Given the description of an element on the screen output the (x, y) to click on. 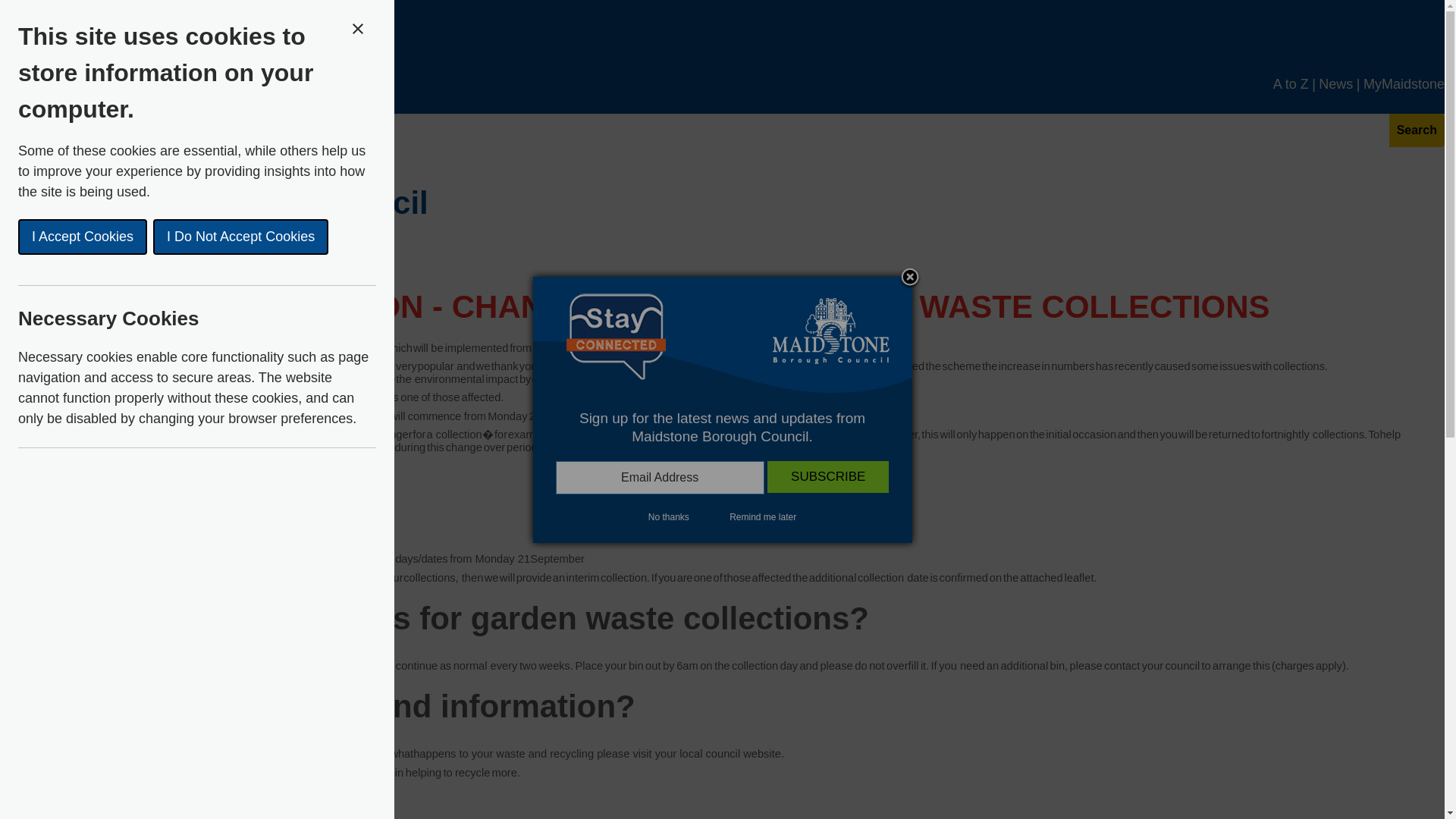
No thanks (667, 517)
Council and Democracy (127, 149)
News (1335, 92)
A to Z (1290, 92)
Home (18, 149)
Close subscription dialog (909, 277)
Email Address (660, 477)
Remind me later (762, 517)
Subscribe (827, 477)
Subscribe (827, 477)
I Do Not Accept Cookies (64, 236)
